Given the description of an element on the screen output the (x, y) to click on. 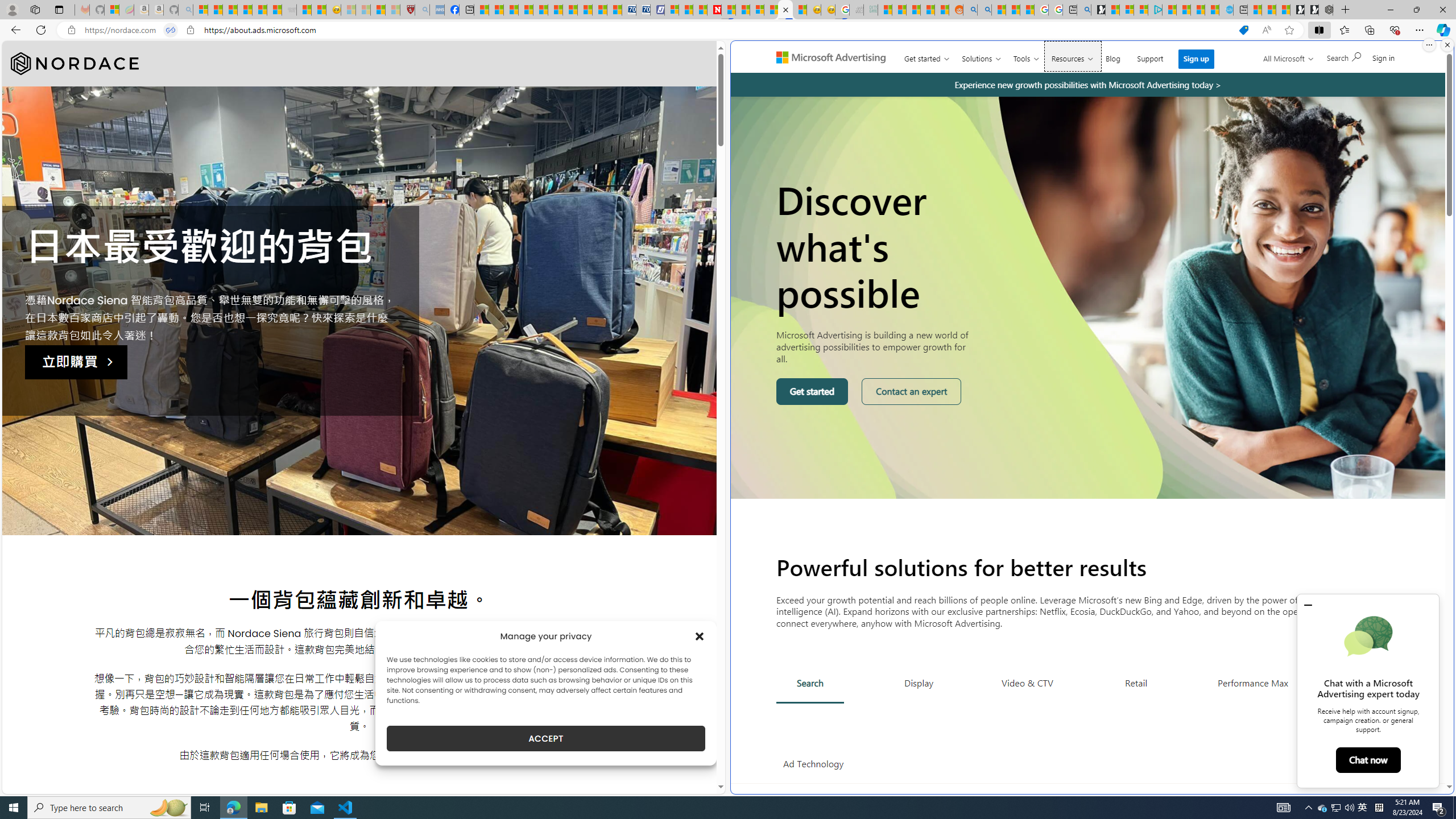
New Report Confirms 2023 Was Record Hot | Watch (259, 9)
Cheap Car Rentals - Save70.com (628, 9)
ACCEPT (545, 738)
Get the Copilot app  (1363, 62)
Close split screen. (1447, 45)
Climate Damage Becomes Too Severe To Reverse (525, 9)
